Given the description of an element on the screen output the (x, y) to click on. 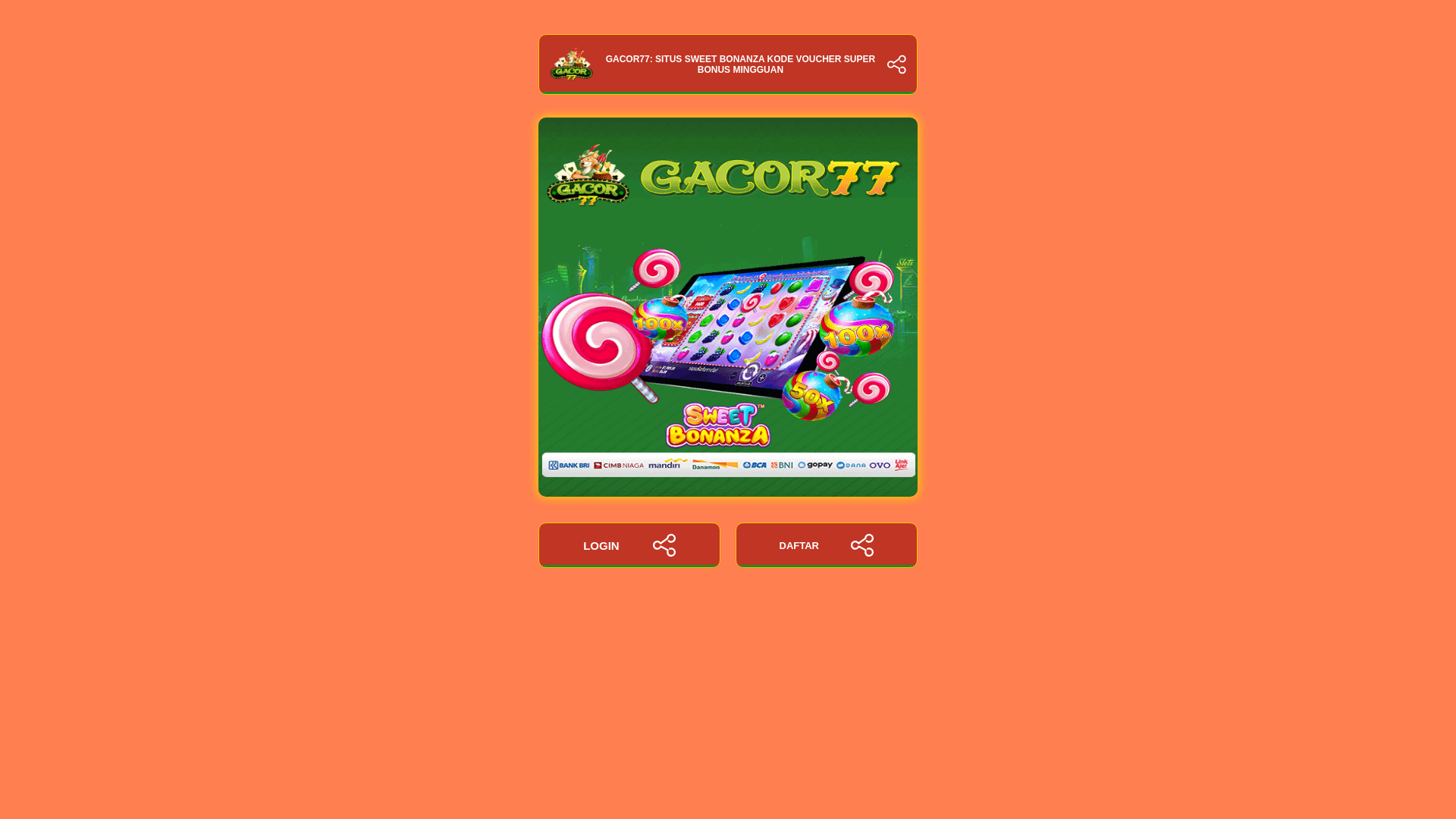
DAFTAR (826, 545)
LOGIN (629, 545)
